Given the description of an element on the screen output the (x, y) to click on. 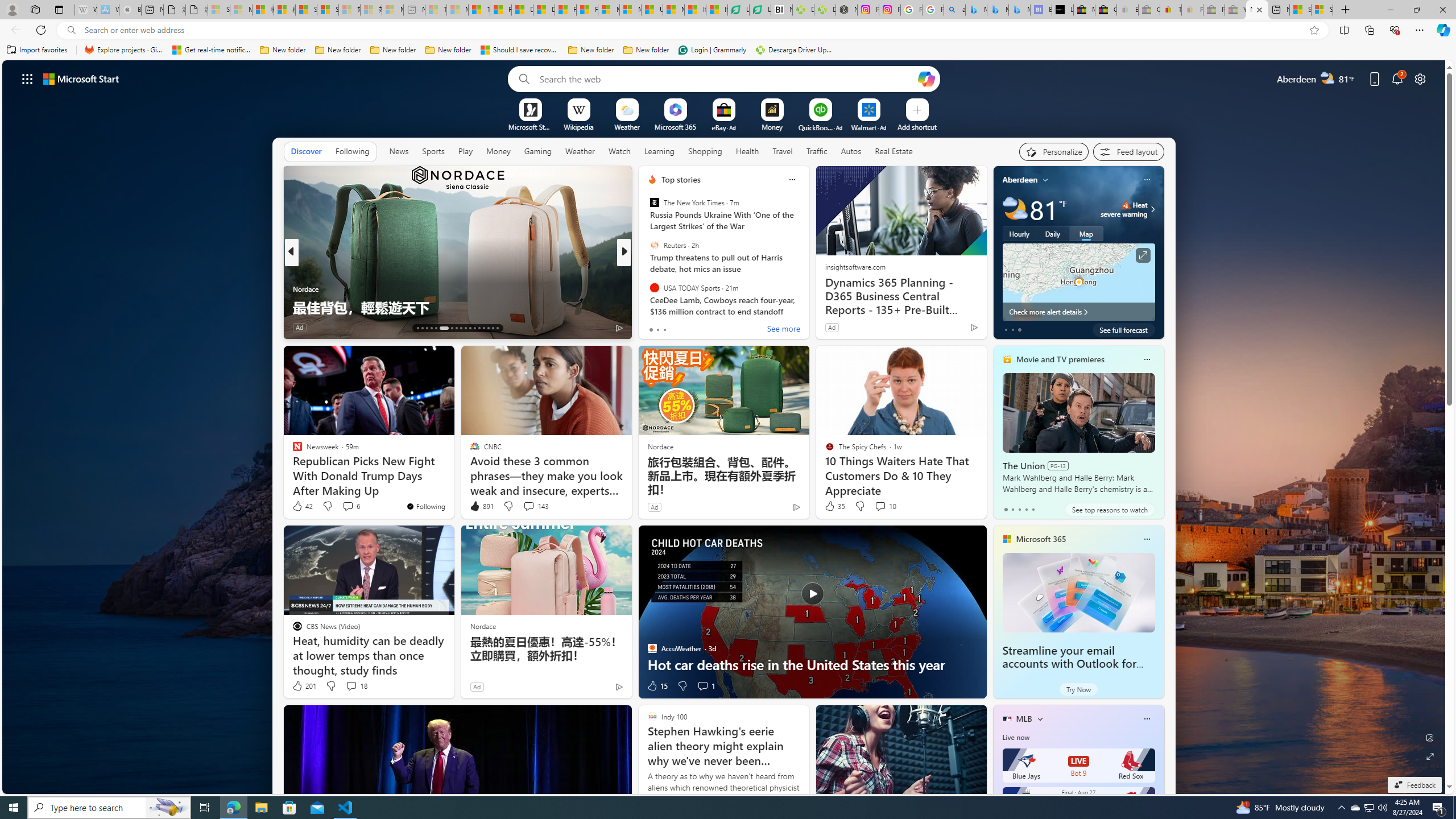
21 Like (652, 327)
Streamline your email accounts with Outlook for Windows (1069, 664)
View comments 14 Comment (707, 327)
Why You Wake Up Earlier As You Get Older (807, 307)
